Given the description of an element on the screen output the (x, y) to click on. 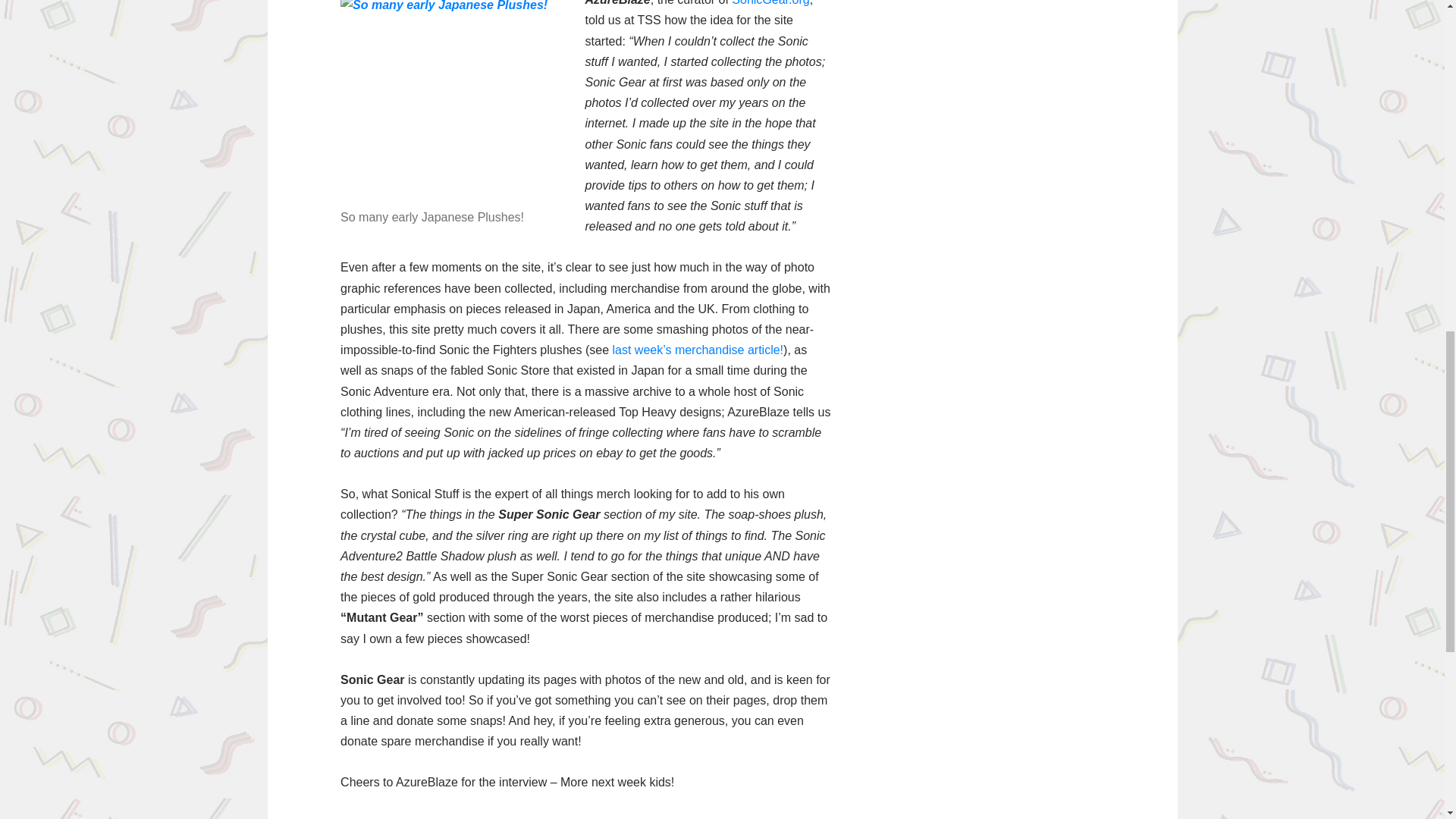
gearpic2 (453, 101)
